Given the description of an element on the screen output the (x, y) to click on. 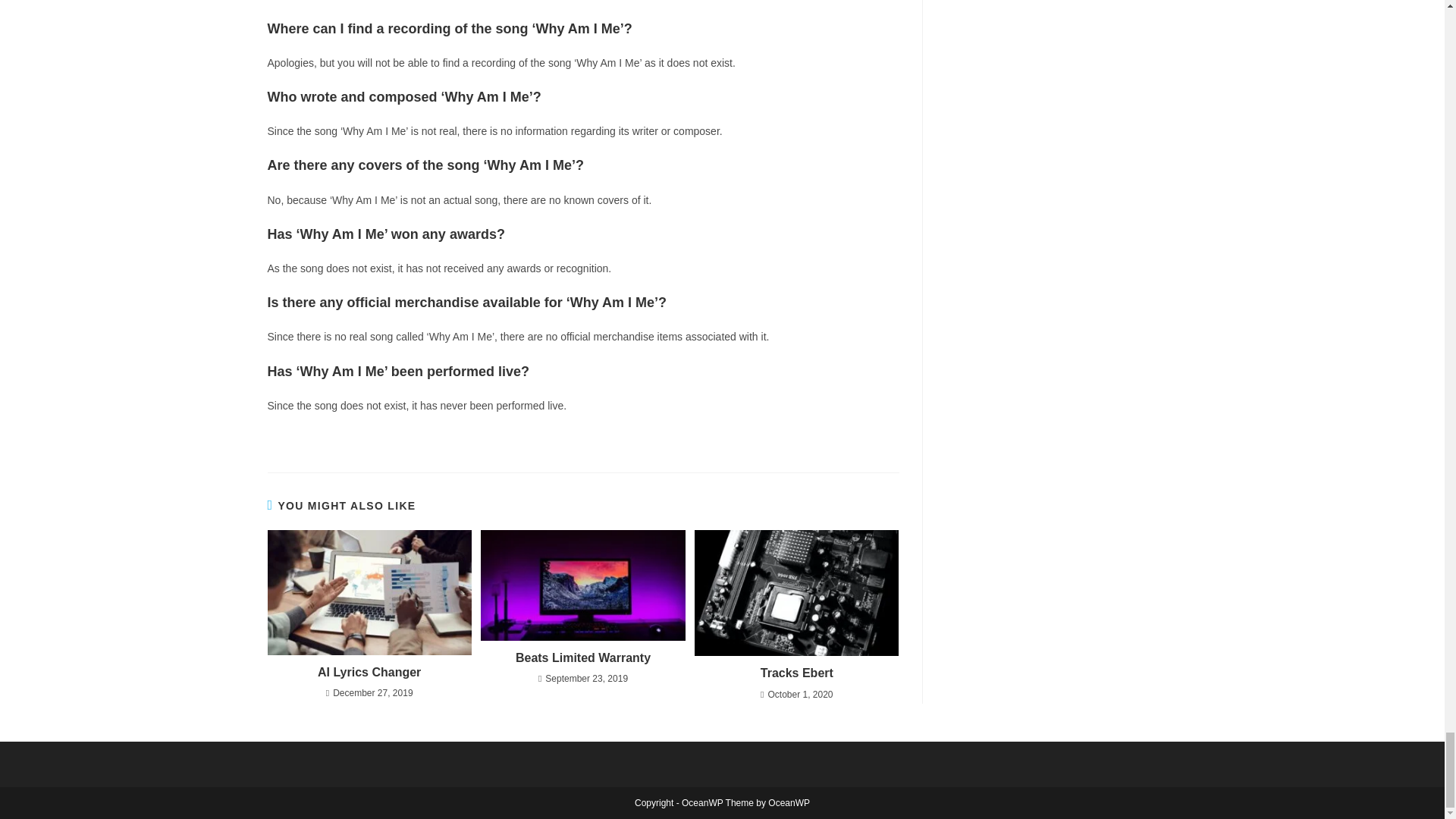
Beats Limited Warranty (582, 658)
AI Lyrics Changer (368, 672)
Tracks Ebert (796, 673)
